Given the description of an element on the screen output the (x, y) to click on. 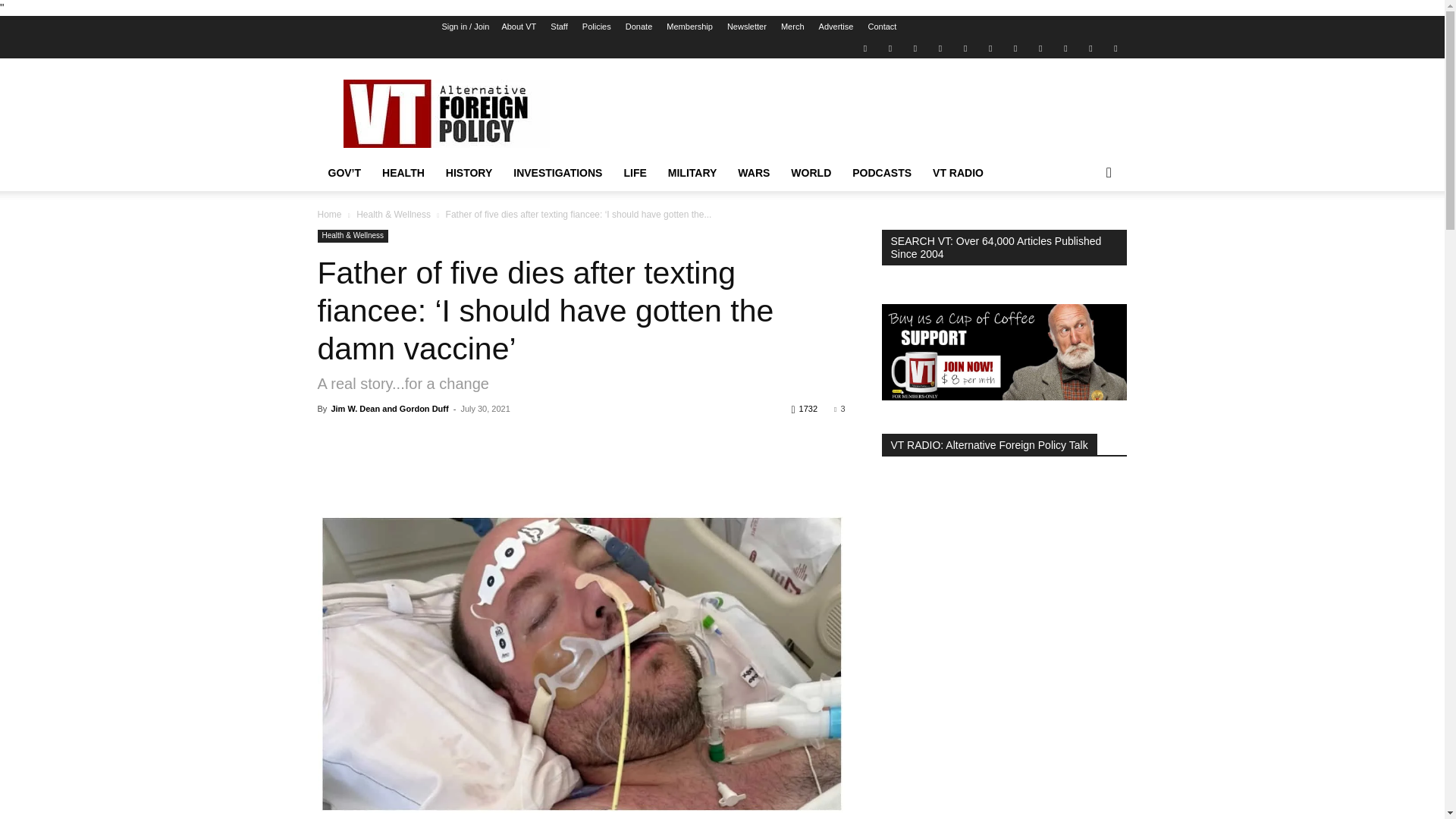
Blogger (864, 47)
Contact (881, 26)
Donate (639, 26)
About VT (517, 26)
Facebook (890, 47)
Rumble (964, 47)
Staff (558, 26)
Policies (596, 26)
Merch (792, 26)
Reddit (940, 47)
